Given the description of an element on the screen output the (x, y) to click on. 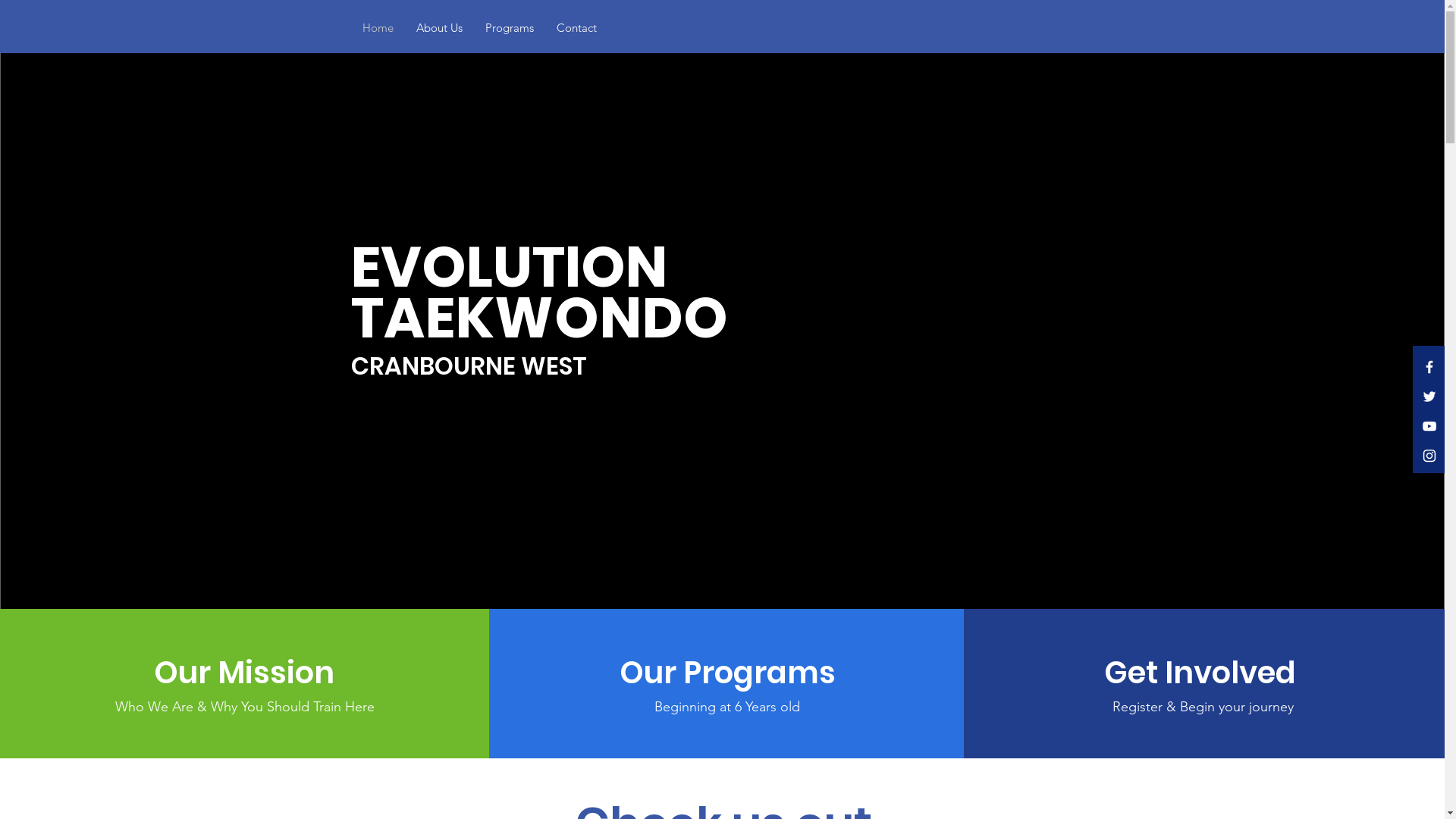
Contact Element type: text (575, 27)
Our Mission Element type: text (244, 672)
About Us Element type: text (438, 27)
Our Programs Element type: text (727, 672)
Home Element type: text (377, 27)
Get Involved  Element type: text (1202, 672)
Embedded Content Element type: hover (947, 323)
